Given the description of an element on the screen output the (x, y) to click on. 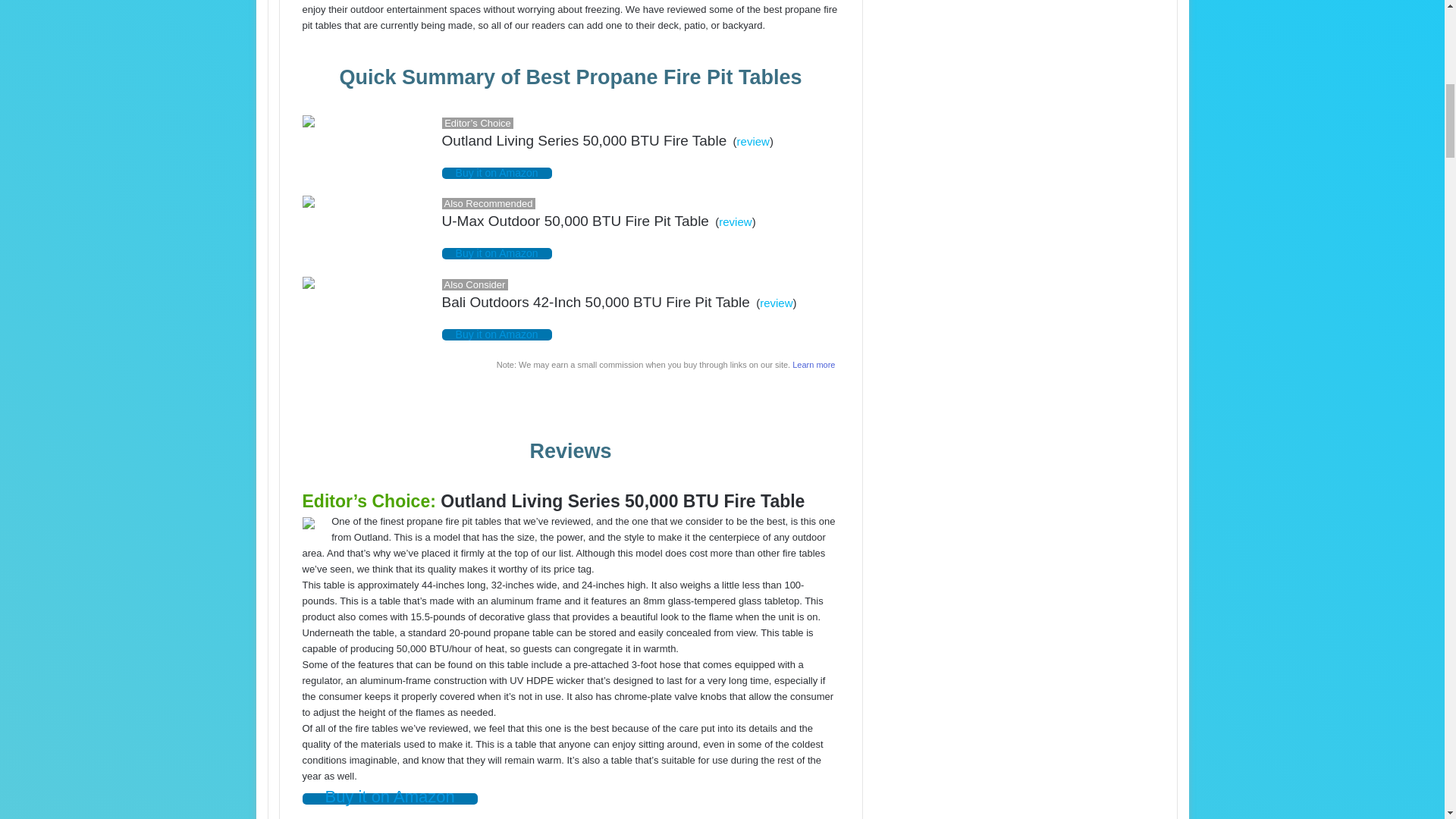
review (735, 221)
Buy it on Amazon (496, 334)
Buy it on Amazon (496, 253)
Learn more (813, 364)
Buy it on Amazon (496, 173)
review (753, 141)
review (776, 302)
